Given the description of an element on the screen output the (x, y) to click on. 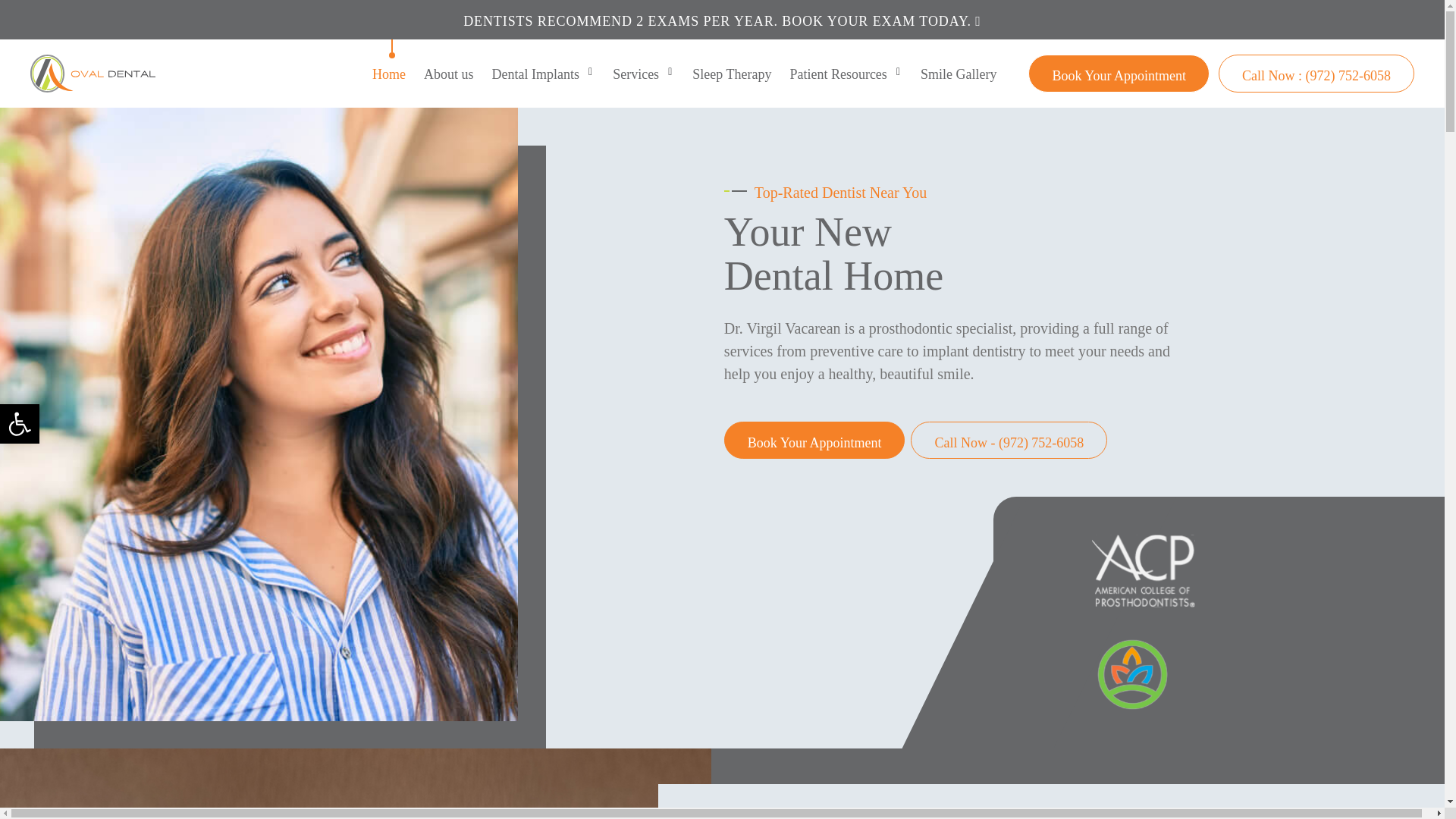
Dental Implants (535, 74)
About us (448, 74)
Sleep Therapy (731, 74)
Services (636, 74)
Home (388, 74)
Accessibility Tools (19, 423)
Book Your Appointment (1118, 73)
Book Your Appointment (814, 440)
Smile Gallery (958, 74)
